Given the description of an element on the screen output the (x, y) to click on. 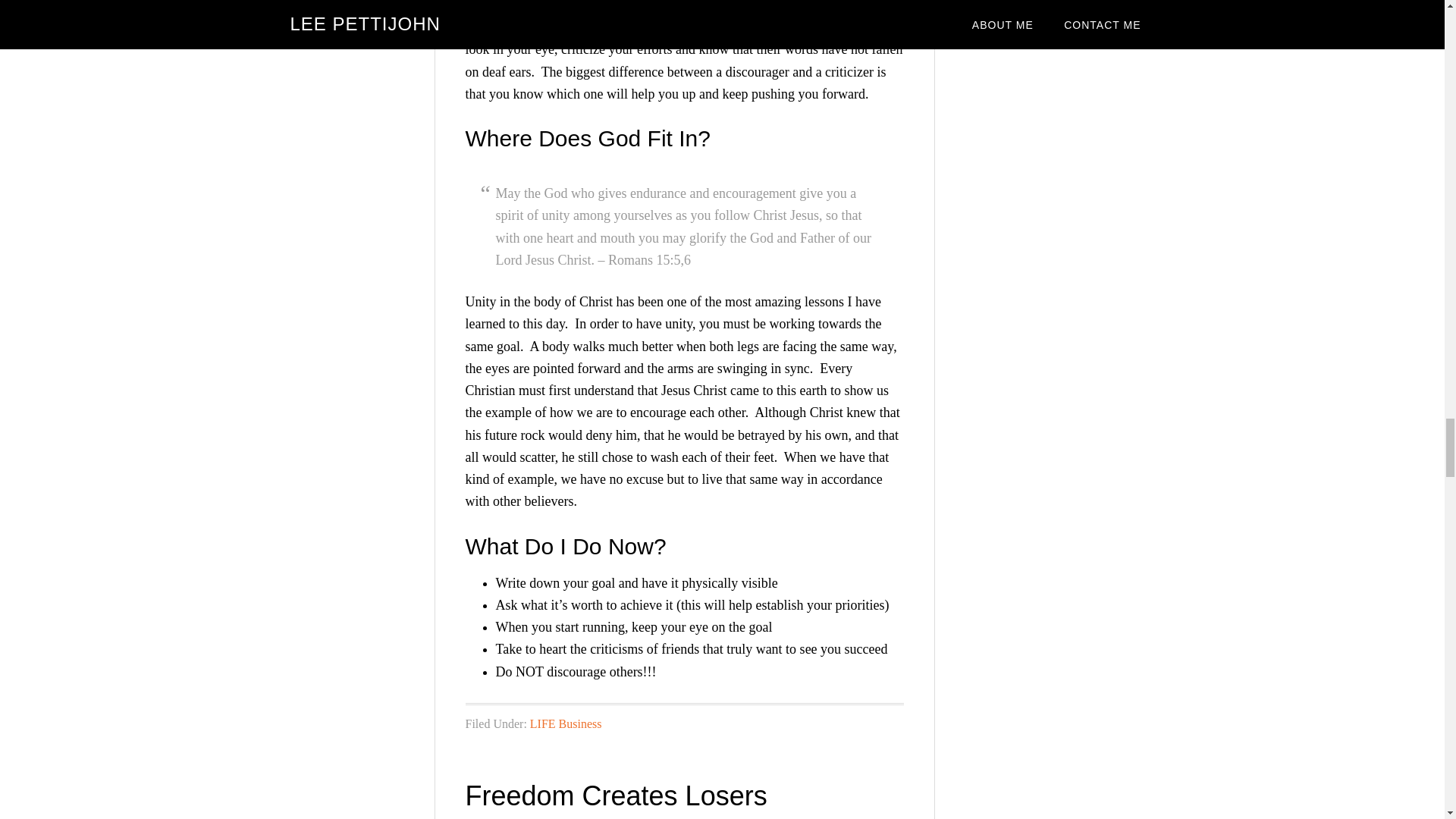
LIFE Business (565, 723)
Freedom Creates Losers (616, 795)
